Given the description of an element on the screen output the (x, y) to click on. 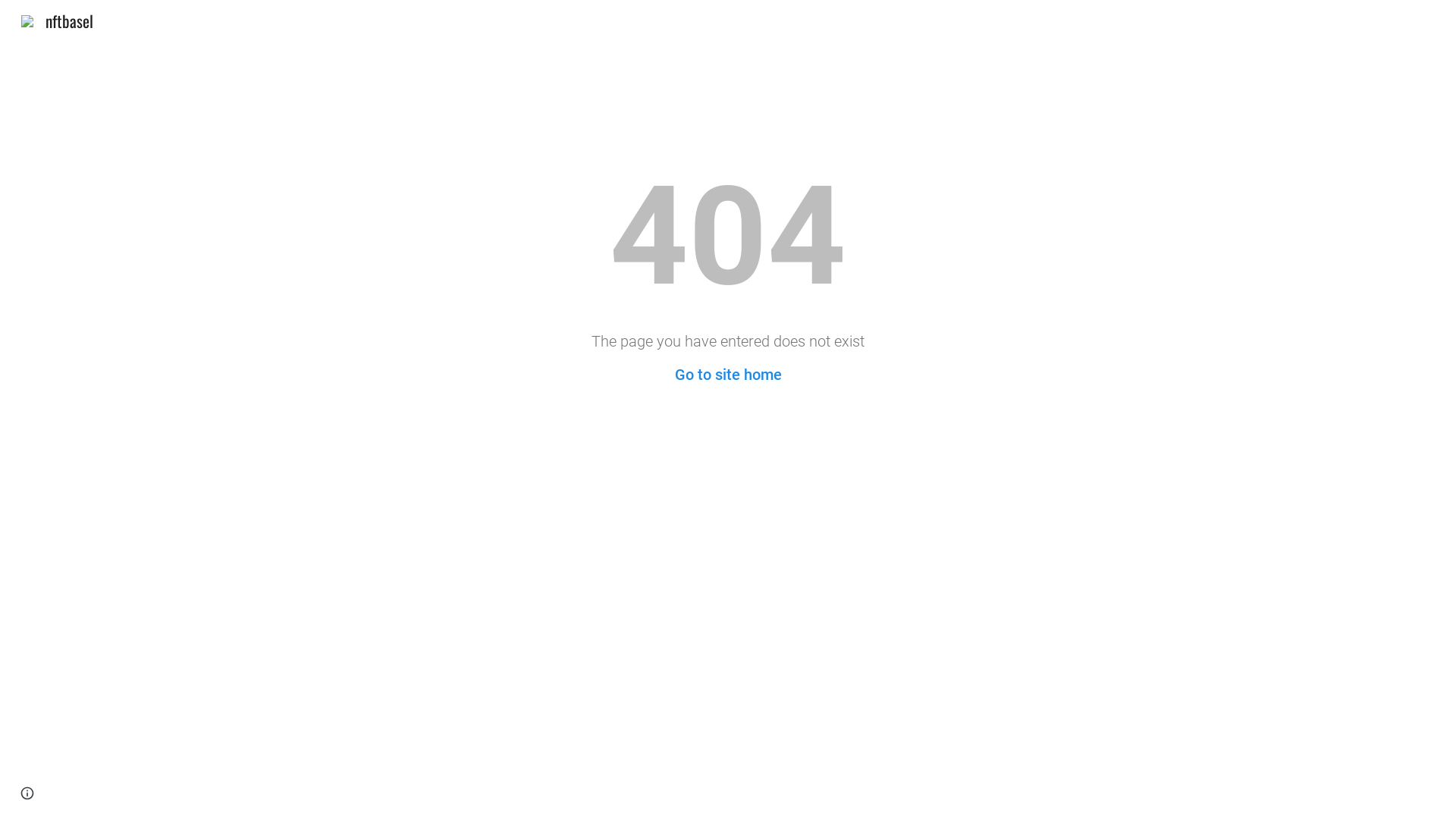
nftbasel Element type: text (57, 18)
Go to site home Element type: text (727, 374)
